Given the description of an element on the screen output the (x, y) to click on. 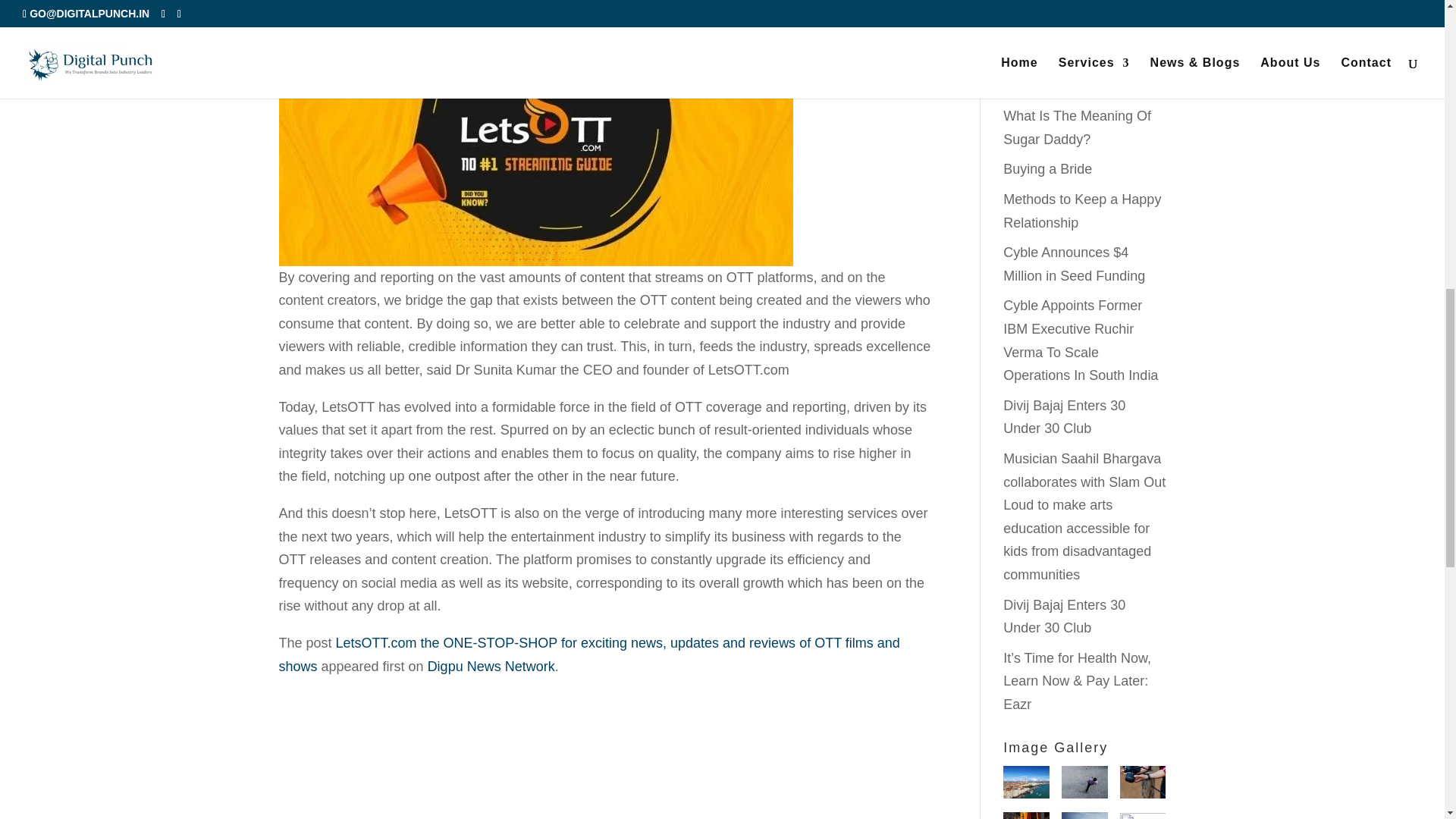
Pladen Music School (1142, 815)
Digpu News Network (491, 666)
Incense Franchise Business Opportunity - Digital Punch (1026, 815)
photo-marketplace-02 (1084, 815)
photo-marketplace-01 (1026, 785)
